Given the description of an element on the screen output the (x, y) to click on. 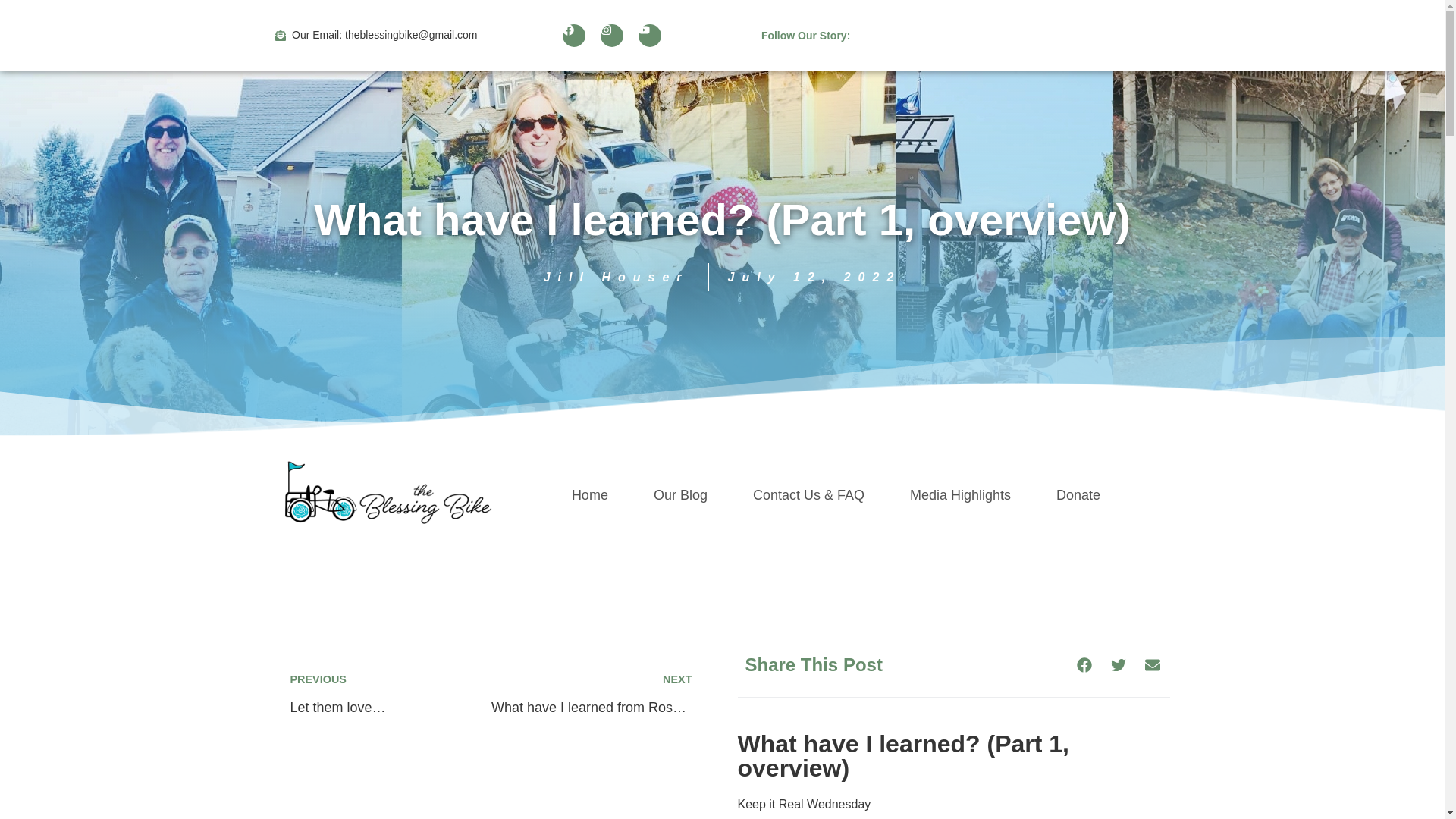
Jill Houser (615, 276)
Media Highlights (959, 494)
Home (589, 494)
Our Blog (680, 494)
July 12, 2022 (814, 276)
Donate (1077, 494)
